Given the description of an element on the screen output the (x, y) to click on. 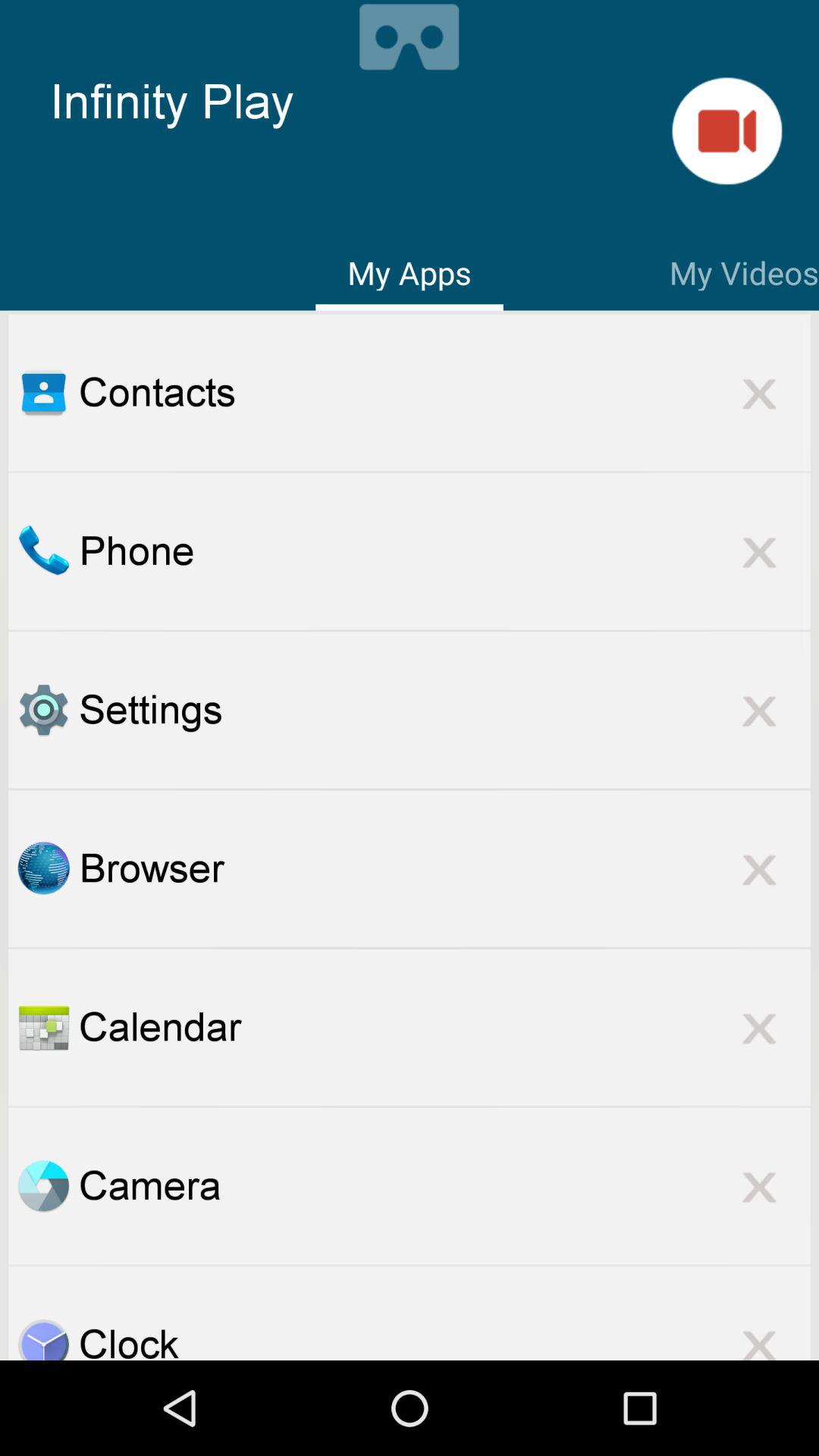
go to closed (759, 868)
